Given the description of an element on the screen output the (x, y) to click on. 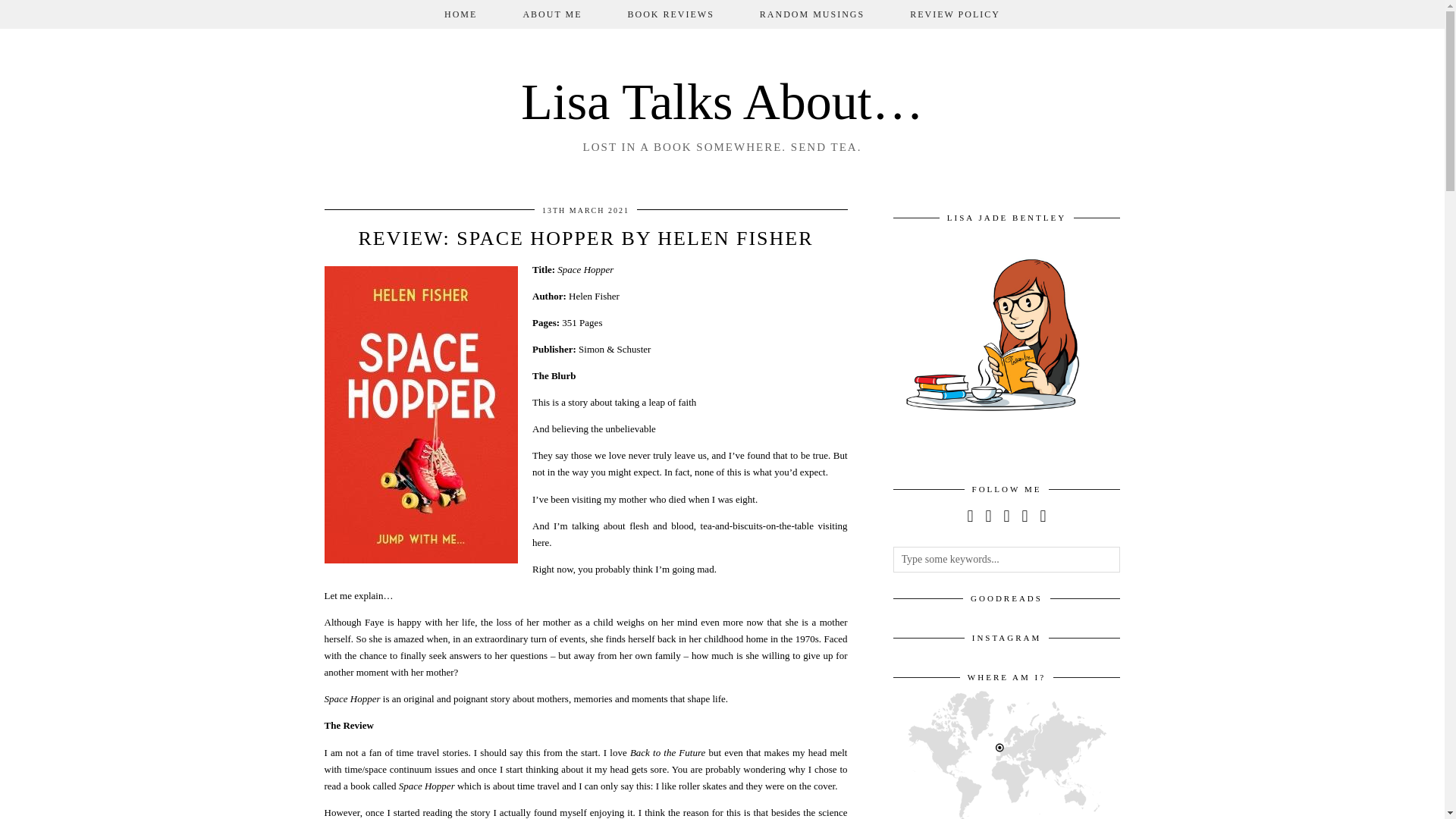
HOME (460, 14)
twitter (969, 515)
BOOK REVIEWS (670, 14)
ABOUT ME (551, 14)
REVIEW POLICY (954, 14)
RANDOM MUSINGS (811, 14)
